Given the description of an element on the screen output the (x, y) to click on. 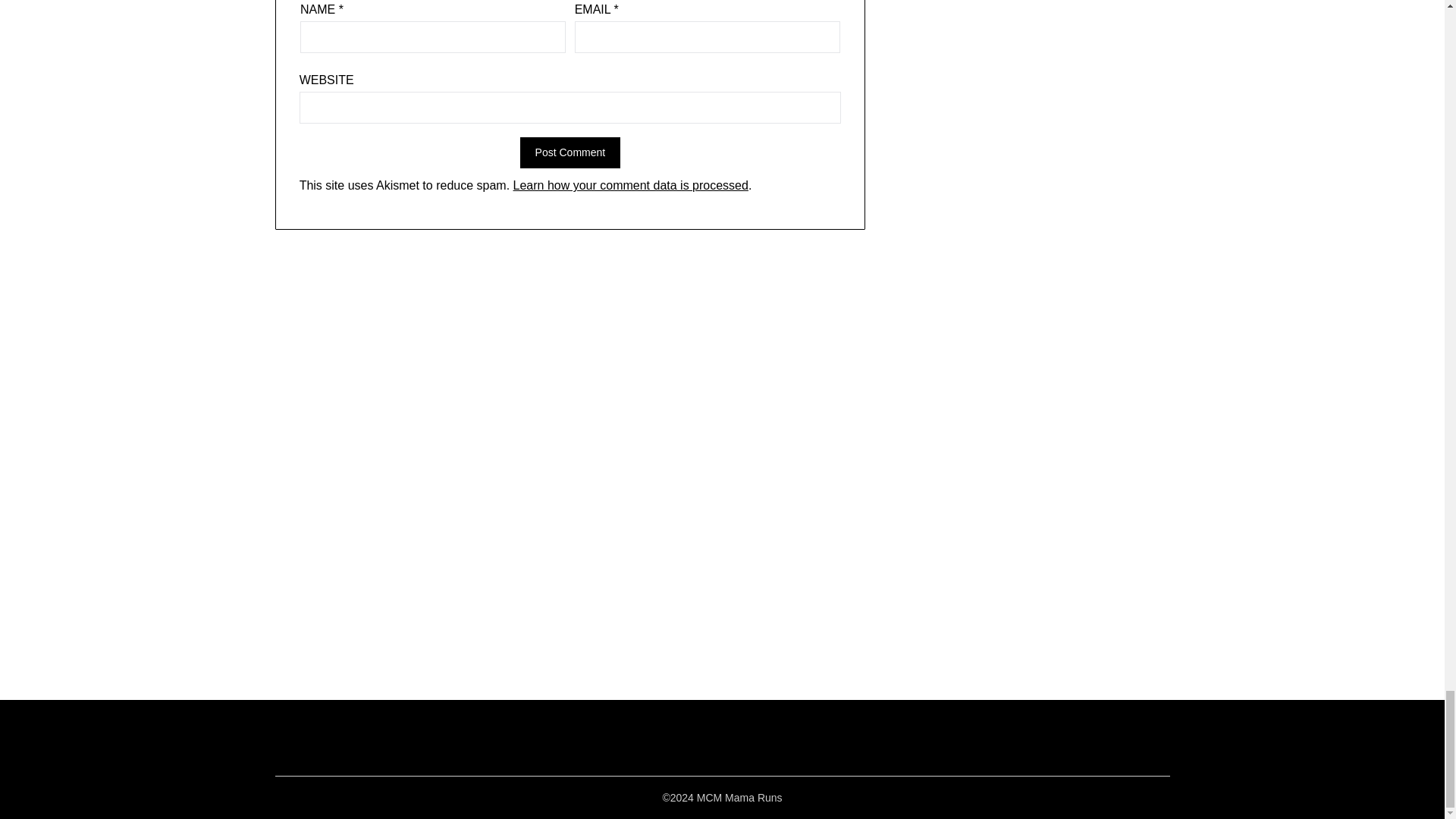
Post Comment (570, 152)
